Given the description of an element on the screen output the (x, y) to click on. 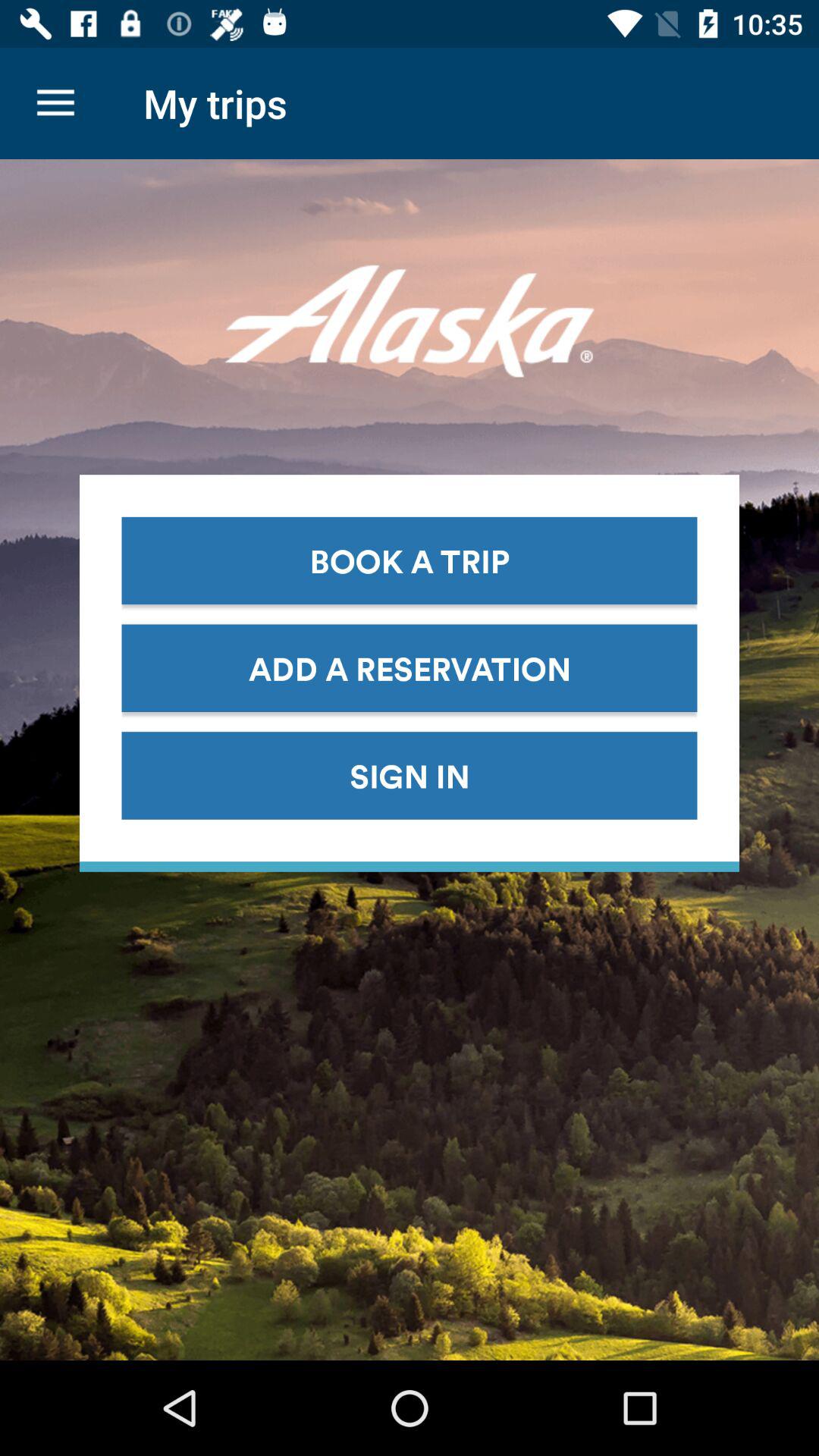
select the item to the left of the my trips icon (55, 103)
